Given the description of an element on the screen output the (x, y) to click on. 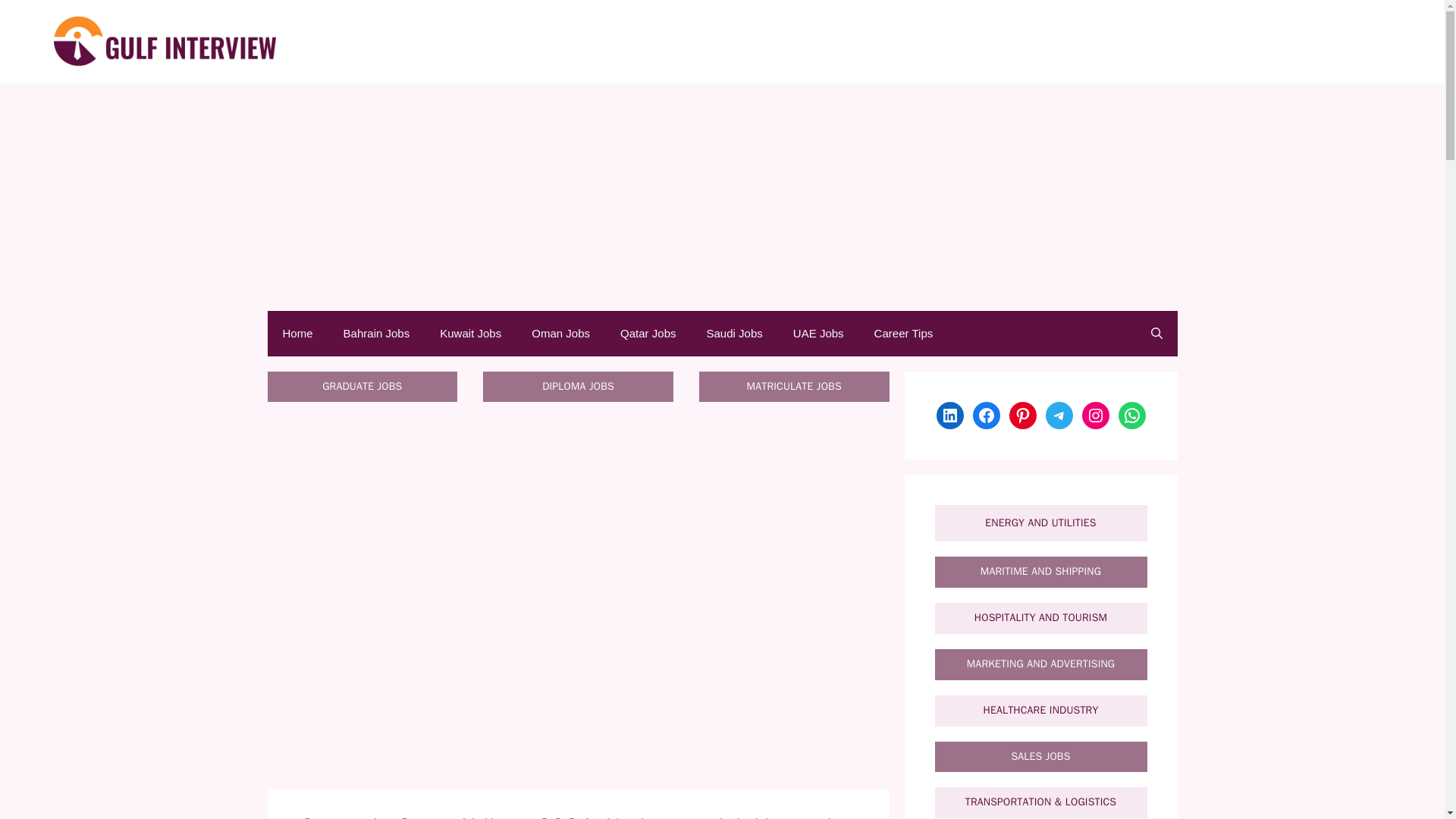
Kuwait Jobs (470, 333)
Home (296, 333)
UAE Jobs (818, 333)
DIPLOMA JOBS (577, 386)
Bahrain Jobs (377, 333)
Career Tips (904, 333)
Qatar Jobs (647, 333)
MATRICULATE JOBS (793, 386)
Saudi Jobs (734, 333)
GRADUATE JOBS (361, 386)
Oman Jobs (560, 333)
